Given the description of an element on the screen output the (x, y) to click on. 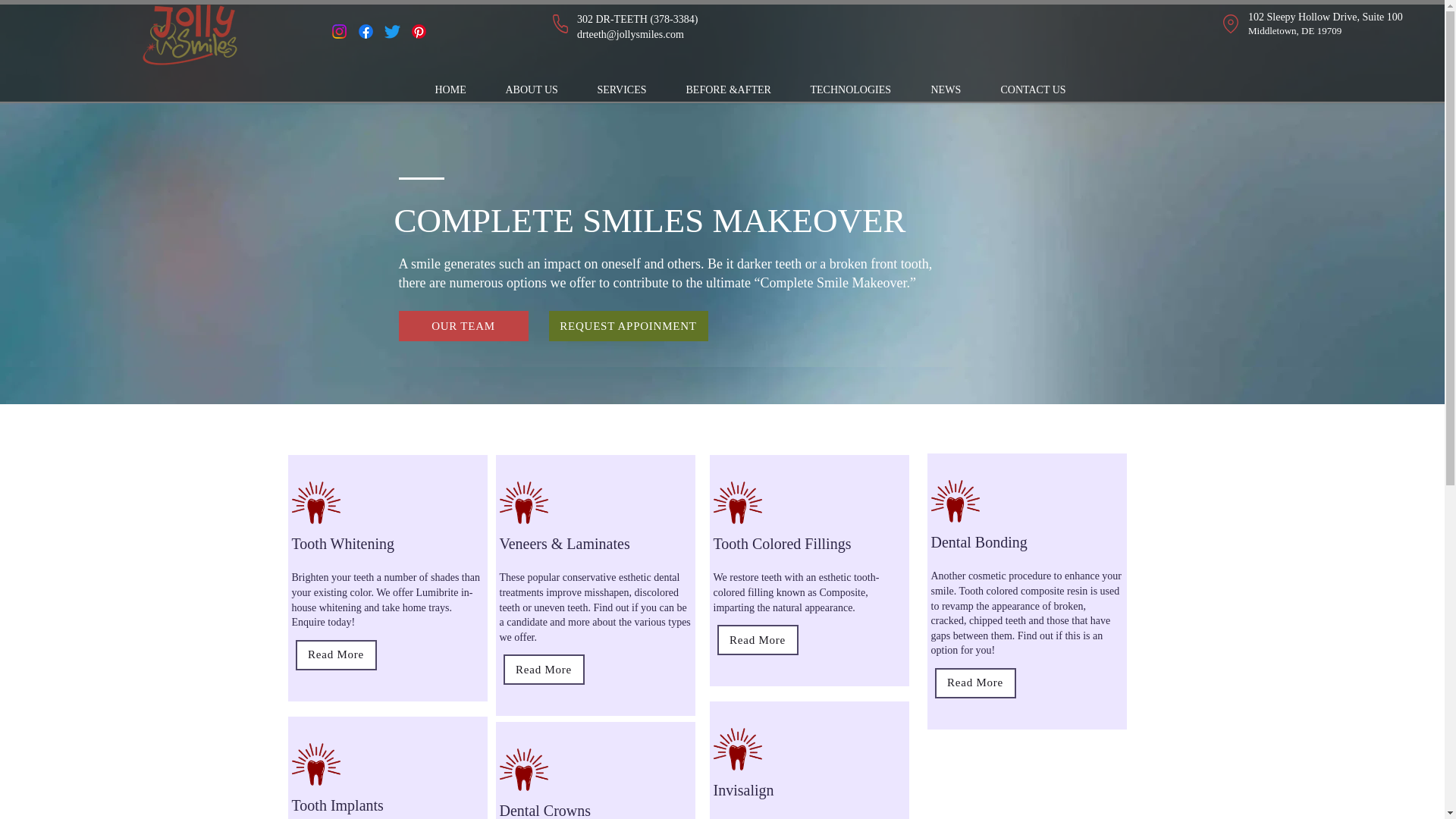
Read More (336, 654)
Read More (544, 669)
REQUEST APPOINMENT (627, 326)
CONTACT US (1040, 89)
NEWS (953, 89)
OUR TEAM (463, 326)
ABOUT US (540, 89)
TECHNOLOGIES (859, 89)
SERVICES (629, 89)
Read More (757, 639)
